Given the description of an element on the screen output the (x, y) to click on. 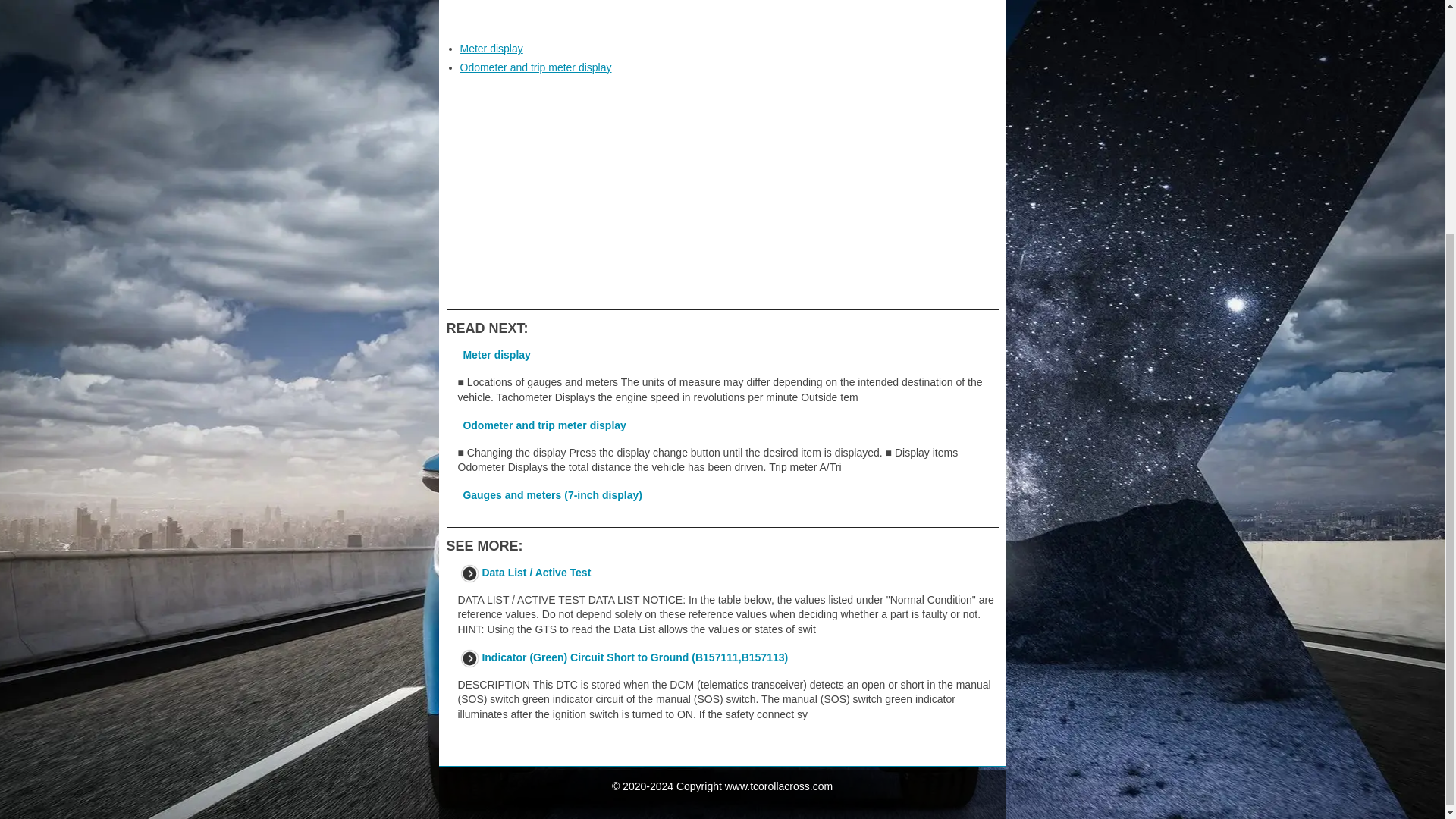
Advertisement (721, 191)
Advertisement (721, 13)
Odometer and trip meter display (535, 67)
Meter display (496, 354)
Odometer and trip meter display (544, 425)
Meter display (491, 48)
